Given the description of an element on the screen output the (x, y) to click on. 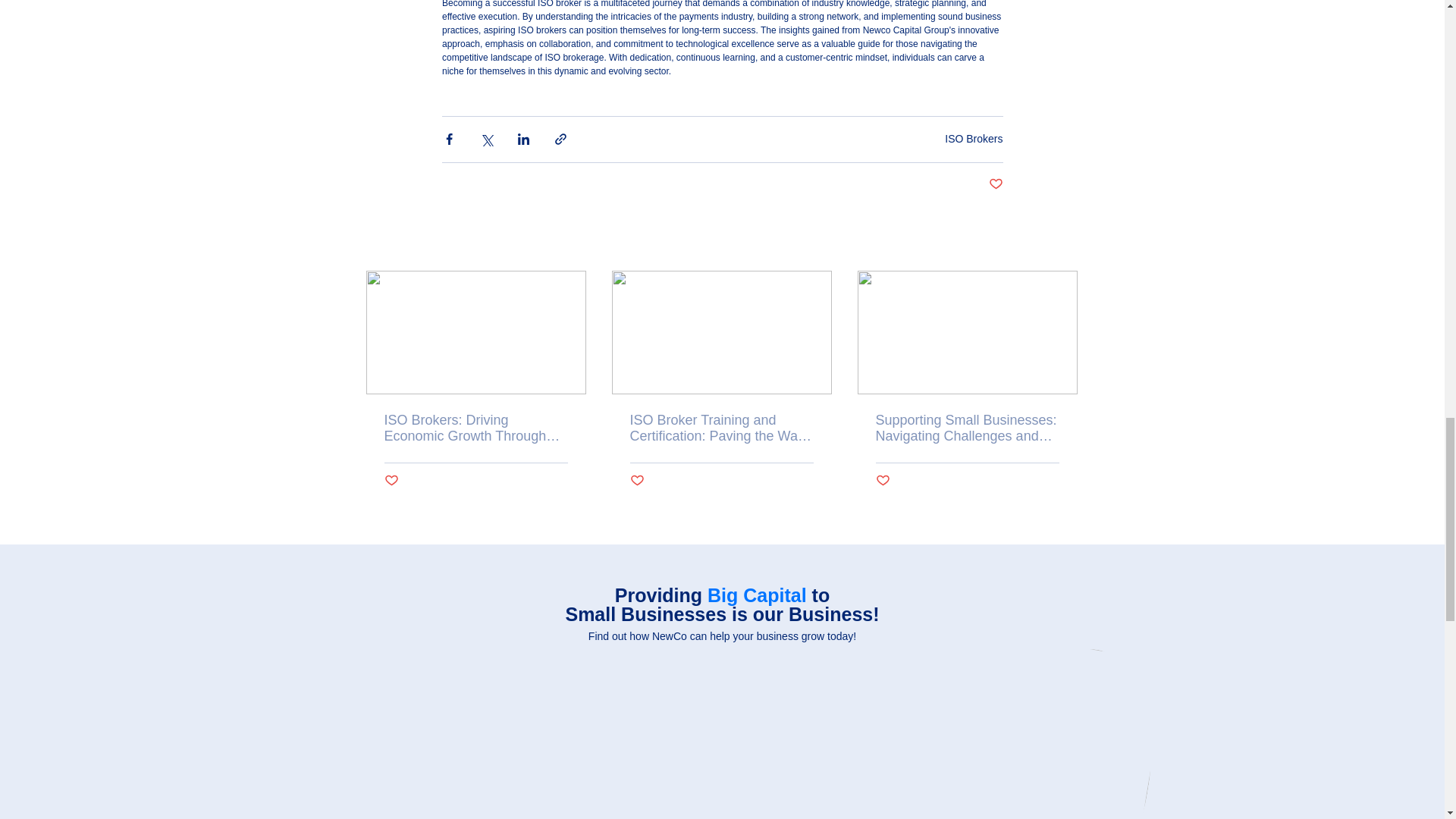
Post not marked as liked (995, 184)
ISO Brokers (973, 138)
Post not marked as liked (390, 480)
Post not marked as liked (635, 480)
Post not marked as liked (882, 480)
